Given the description of an element on the screen output the (x, y) to click on. 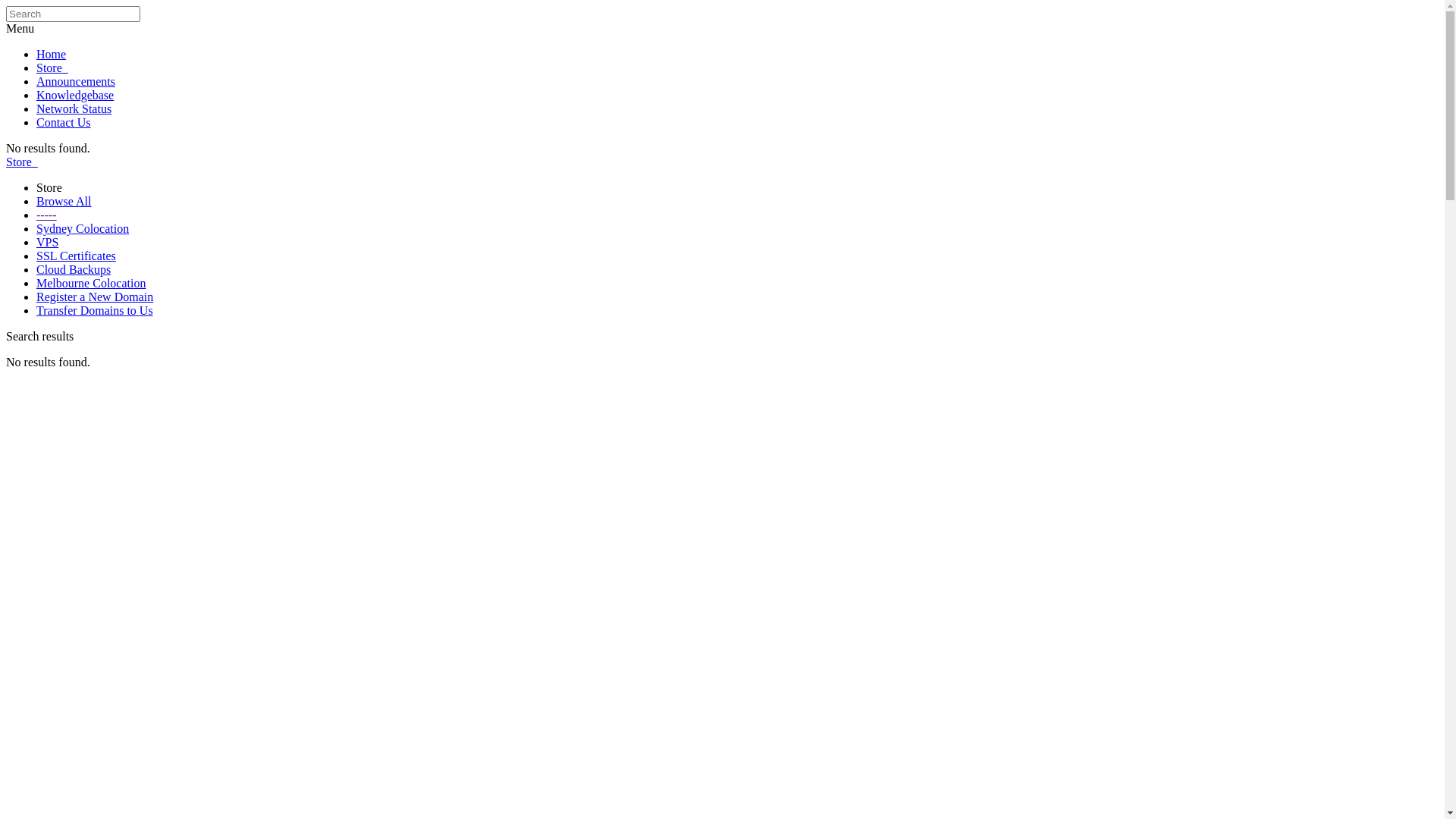
Store   Element type: text (21, 161)
Search results Element type: text (39, 335)
Sydney Colocation Element type: text (82, 228)
Cloud Backups Element type: text (73, 269)
VPS Element type: text (47, 241)
Network Status Element type: text (73, 108)
Transfer Domains to Us Element type: text (94, 310)
----- Element type: text (46, 214)
Melbourne Colocation Element type: text (90, 282)
Register a New Domain Element type: text (94, 296)
Menu Element type: text (20, 27)
Knowledgebase Element type: text (74, 94)
SSL Certificates Element type: text (76, 255)
Store   Element type: text (52, 67)
Contact Us Element type: text (63, 122)
Home Element type: text (50, 53)
Announcements Element type: text (75, 81)
Browse All Element type: text (63, 200)
